Given the description of an element on the screen output the (x, y) to click on. 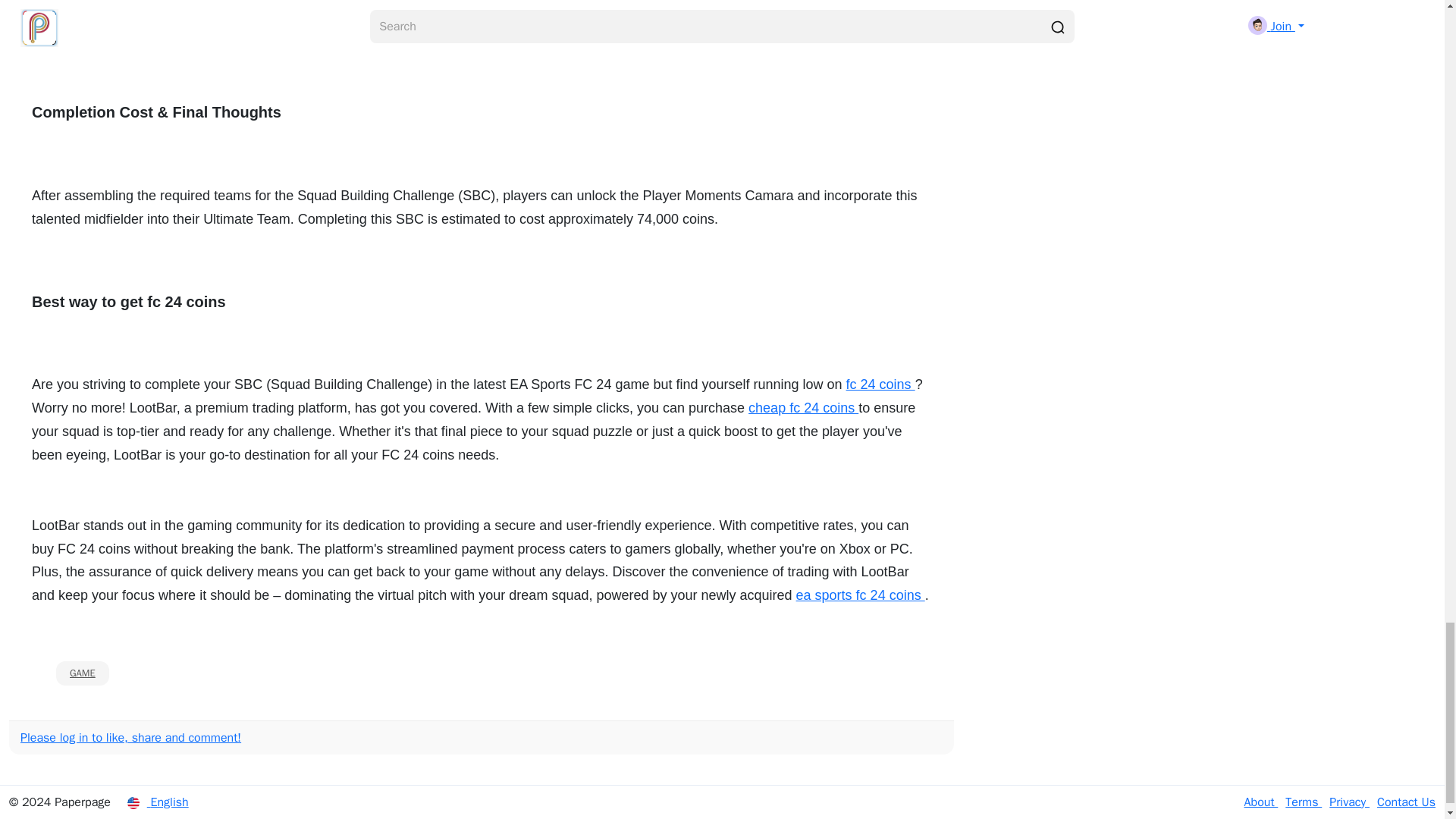
Please log in to like, share and comment! (130, 737)
fc 24 coins (880, 384)
GAME (82, 672)
cheap fc 24 coins (803, 407)
ea sports fc 24 coins (860, 595)
